Given the description of an element on the screen output the (x, y) to click on. 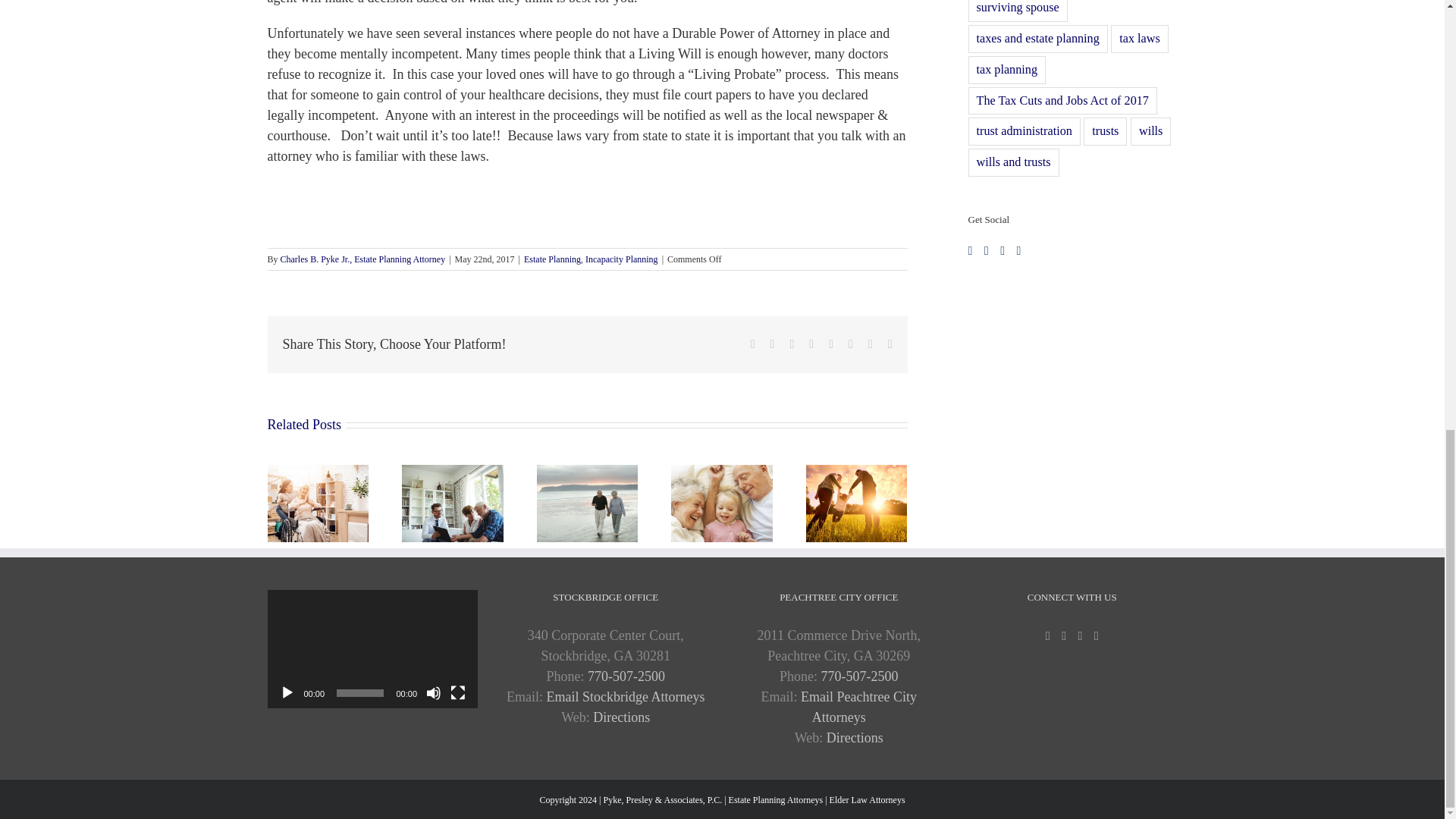
Mute (433, 693)
Fullscreen (457, 693)
Posts by Charles B. Pyke Jr., Estate Planning Attorney (363, 258)
Play (286, 693)
